Given the description of an element on the screen output the (x, y) to click on. 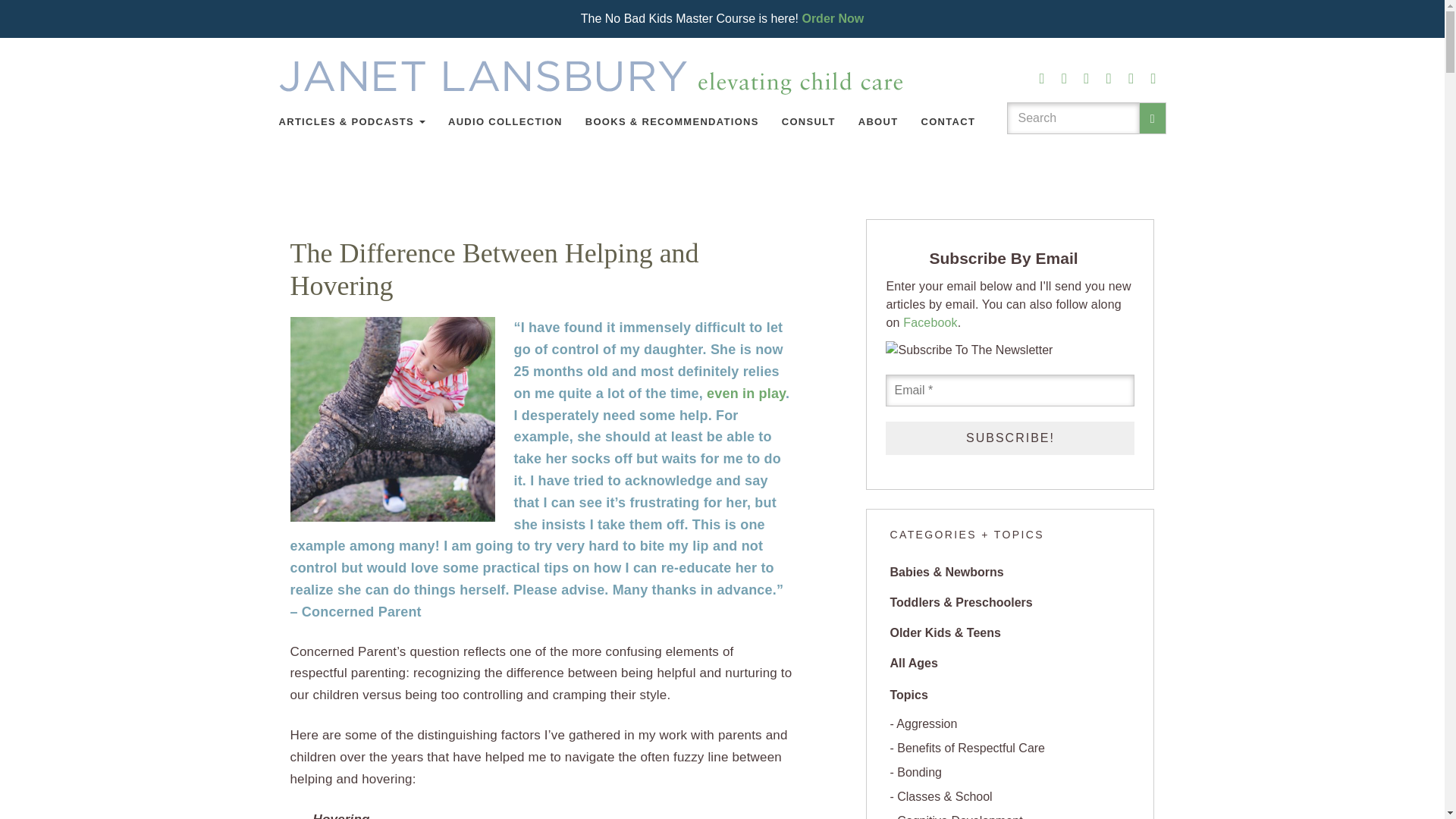
Audio Collection (504, 121)
ABOUT (878, 121)
even in play (746, 393)
Order Now (832, 18)
CONTACT (947, 121)
Contact (947, 121)
CONSULT (808, 121)
AUDIO COLLECTION (504, 121)
About (878, 121)
Consult (808, 121)
